Given the description of an element on the screen output the (x, y) to click on. 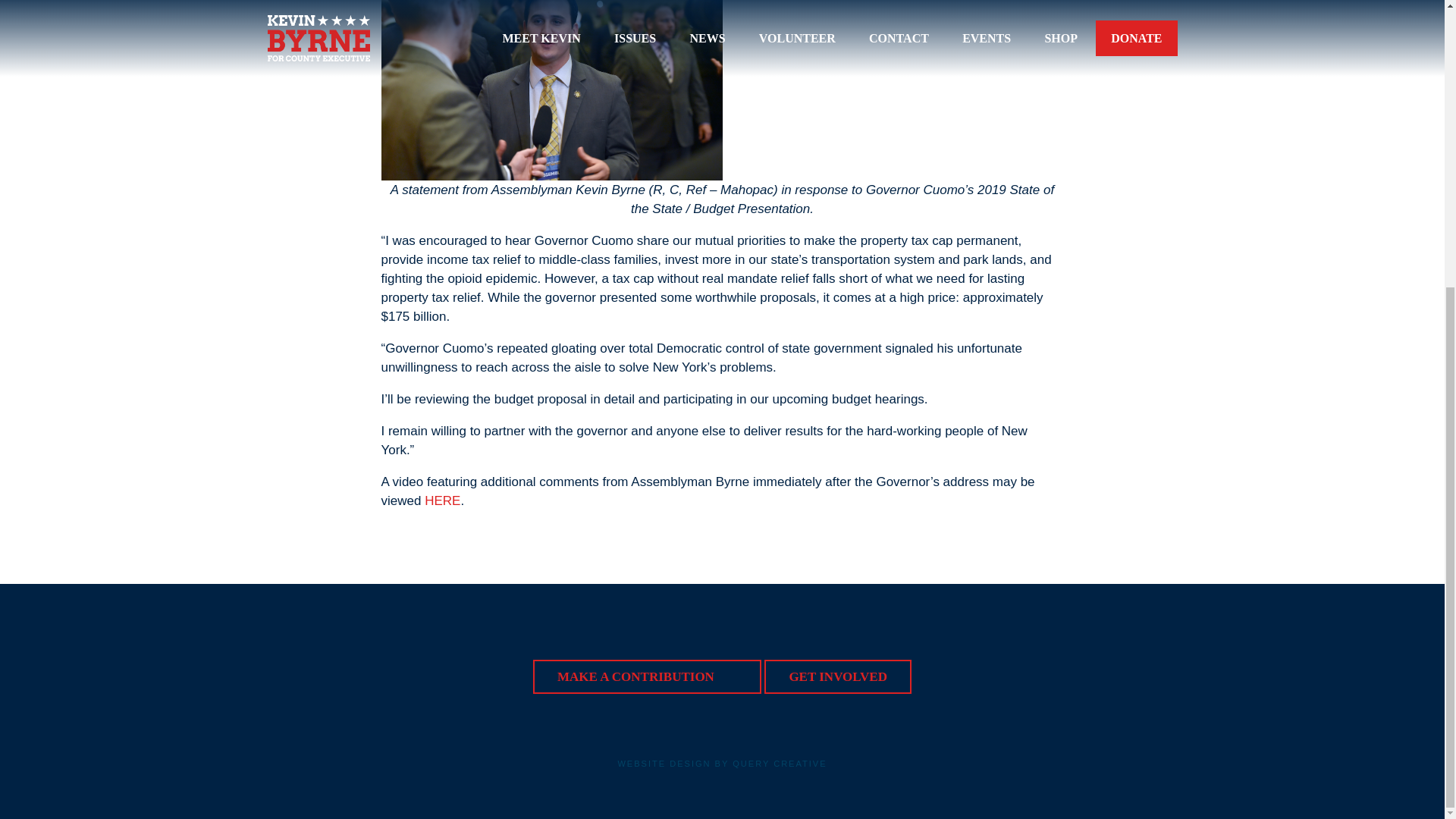
WEBSITE DESIGN BY QUERY CREATIVE (722, 763)
MAKE A CONTRIBUTION (646, 676)
HERE (442, 500)
GET INVOLVED (837, 676)
